Given the description of an element on the screen output the (x, y) to click on. 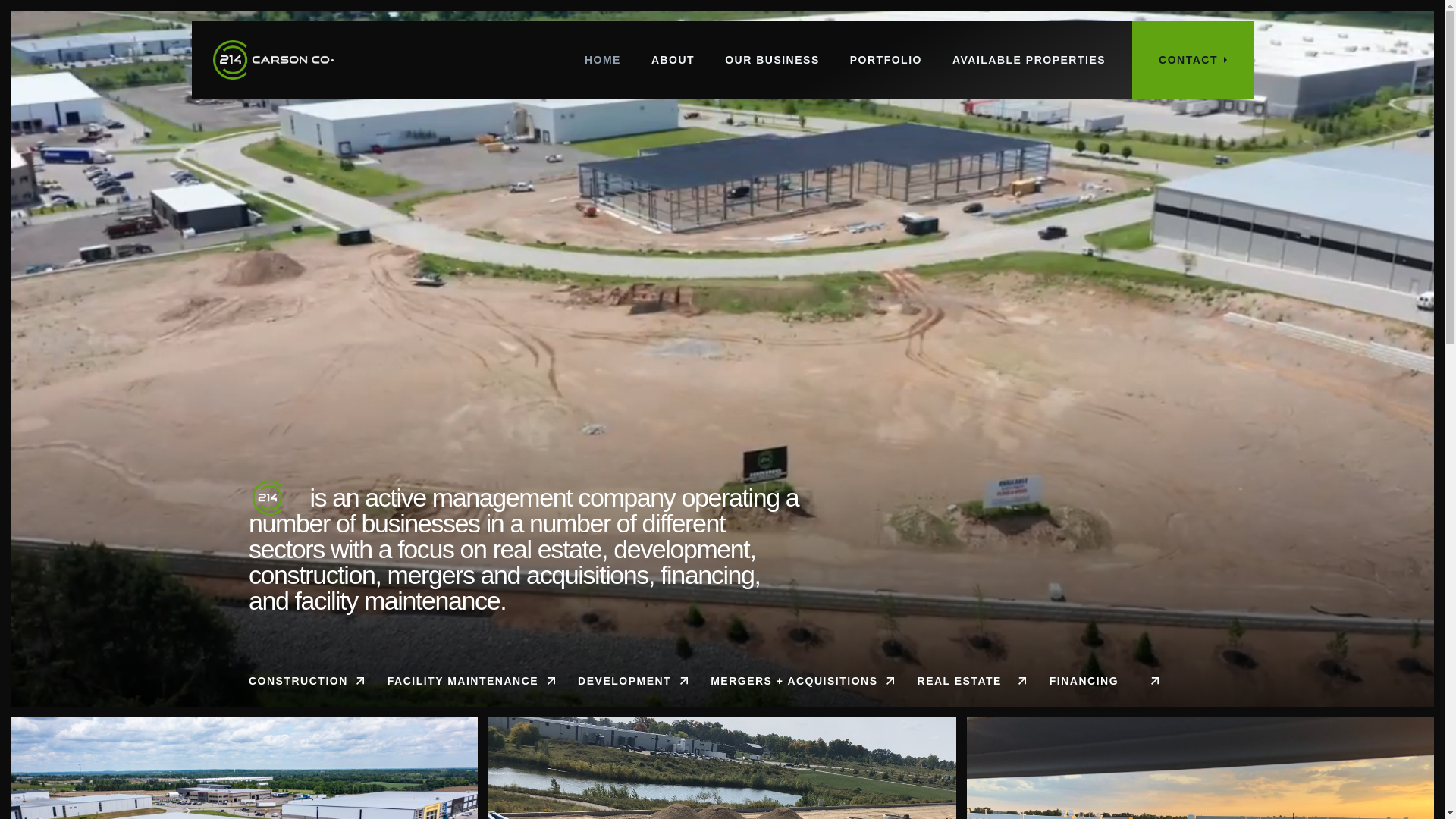
AVAILABLE PROPERTIES Element type: text (1028, 59)
HOME Element type: text (601, 59)
MERGERS + ACQUISITIONS Element type: text (802, 686)
CONSTRUCTION Element type: text (306, 686)
OUR BUSINESS Element type: text (771, 59)
DEVELOPMENT Element type: text (632, 686)
ABOUT Element type: text (672, 59)
PORTFOLIO Element type: text (885, 59)
CONTACT Element type: text (1192, 59)
FACILITY MAINTENANCE Element type: text (470, 686)
FINANCING Element type: text (1102, 686)
REAL ESTATE Element type: text (971, 686)
